Given the description of an element on the screen output the (x, y) to click on. 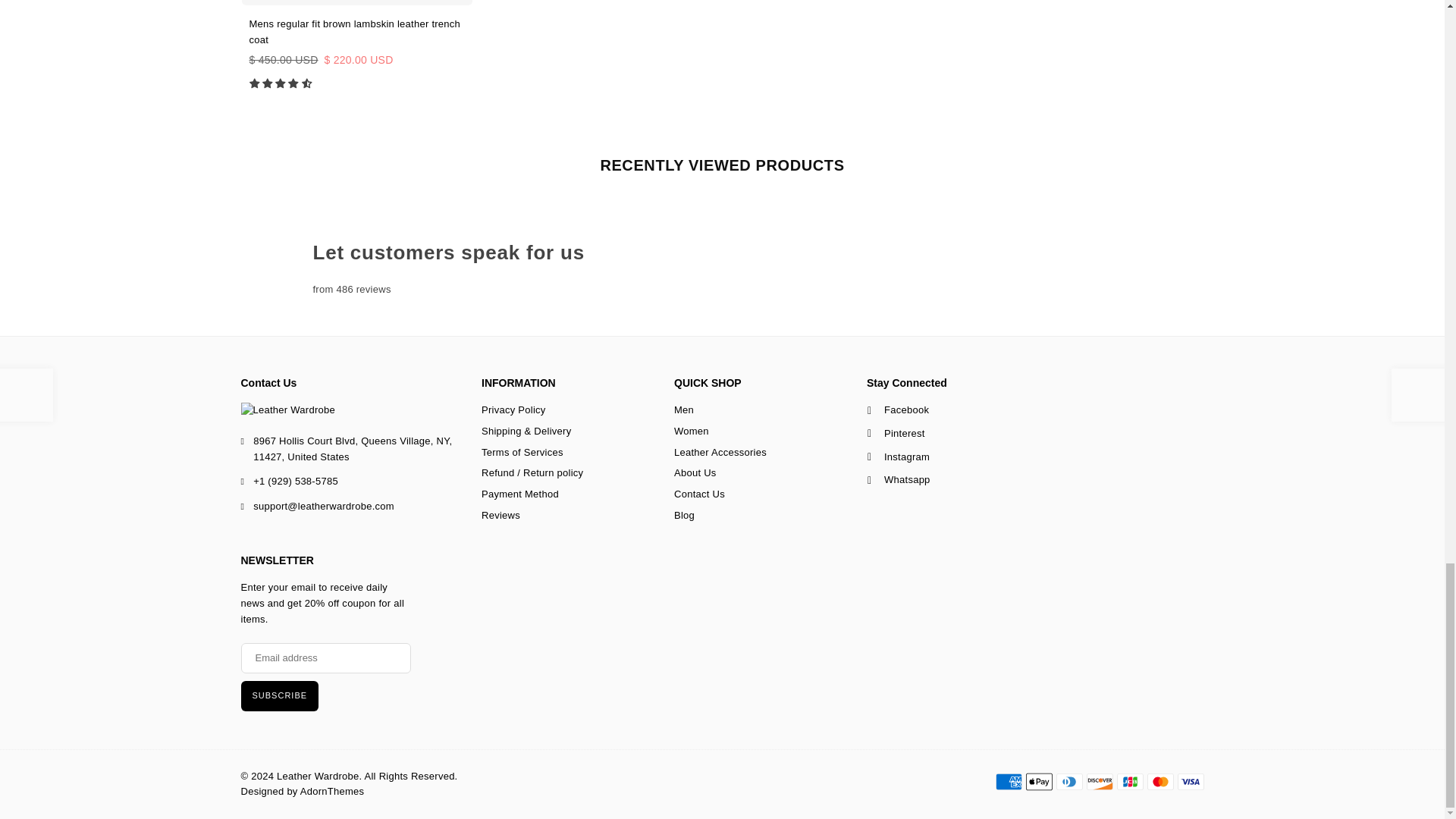
Apple Pay (1038, 782)
JCB (1129, 782)
Visa (1190, 782)
Diners Club (1068, 782)
Mastercard (1160, 782)
American Express (1008, 782)
Discover (1099, 782)
